Given the description of an element on the screen output the (x, y) to click on. 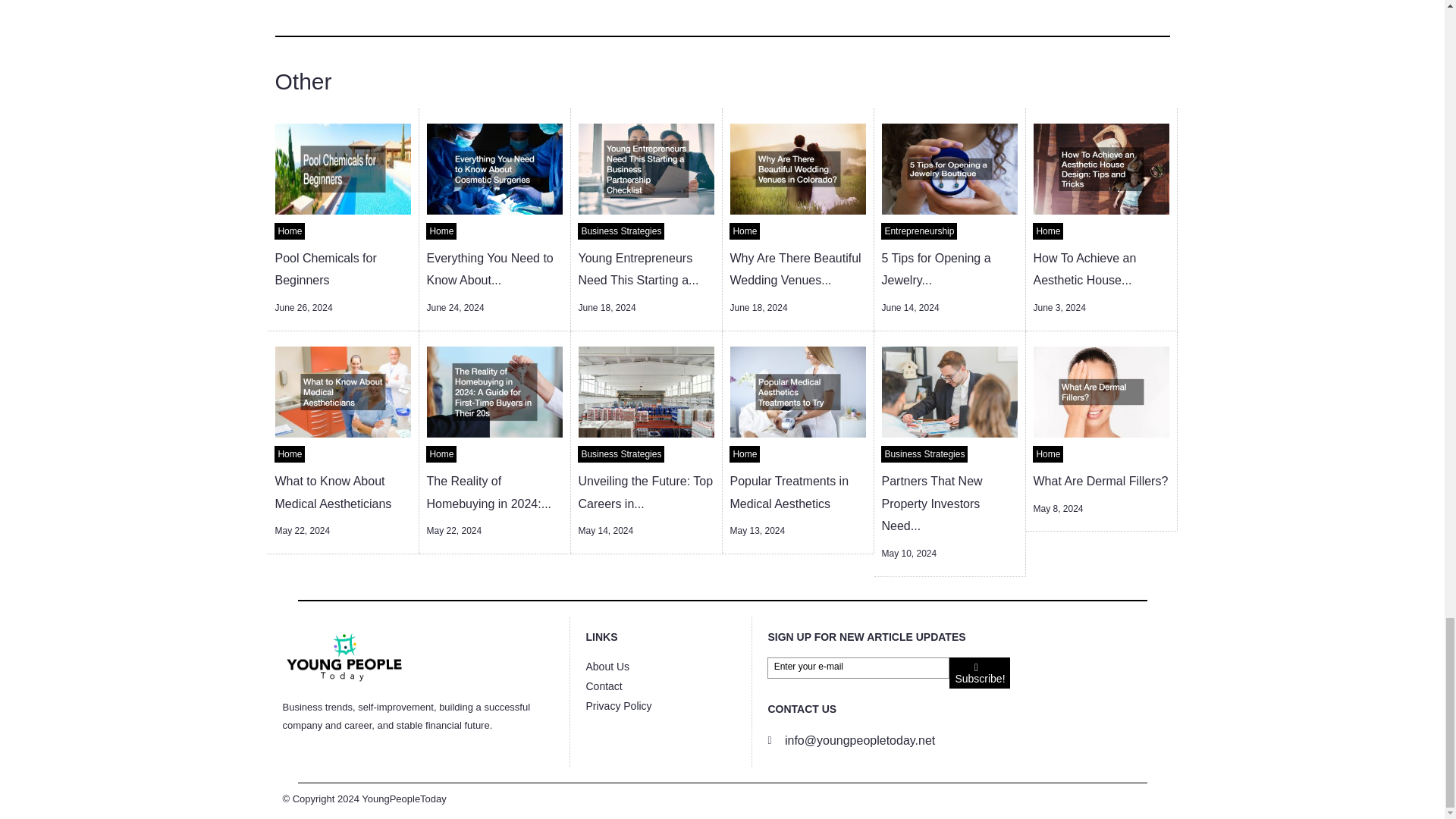
Home (289, 230)
Home (441, 230)
Pool Chemicals for Beginners (325, 269)
June 26, 2024 (303, 307)
